Given the description of an element on the screen output the (x, y) to click on. 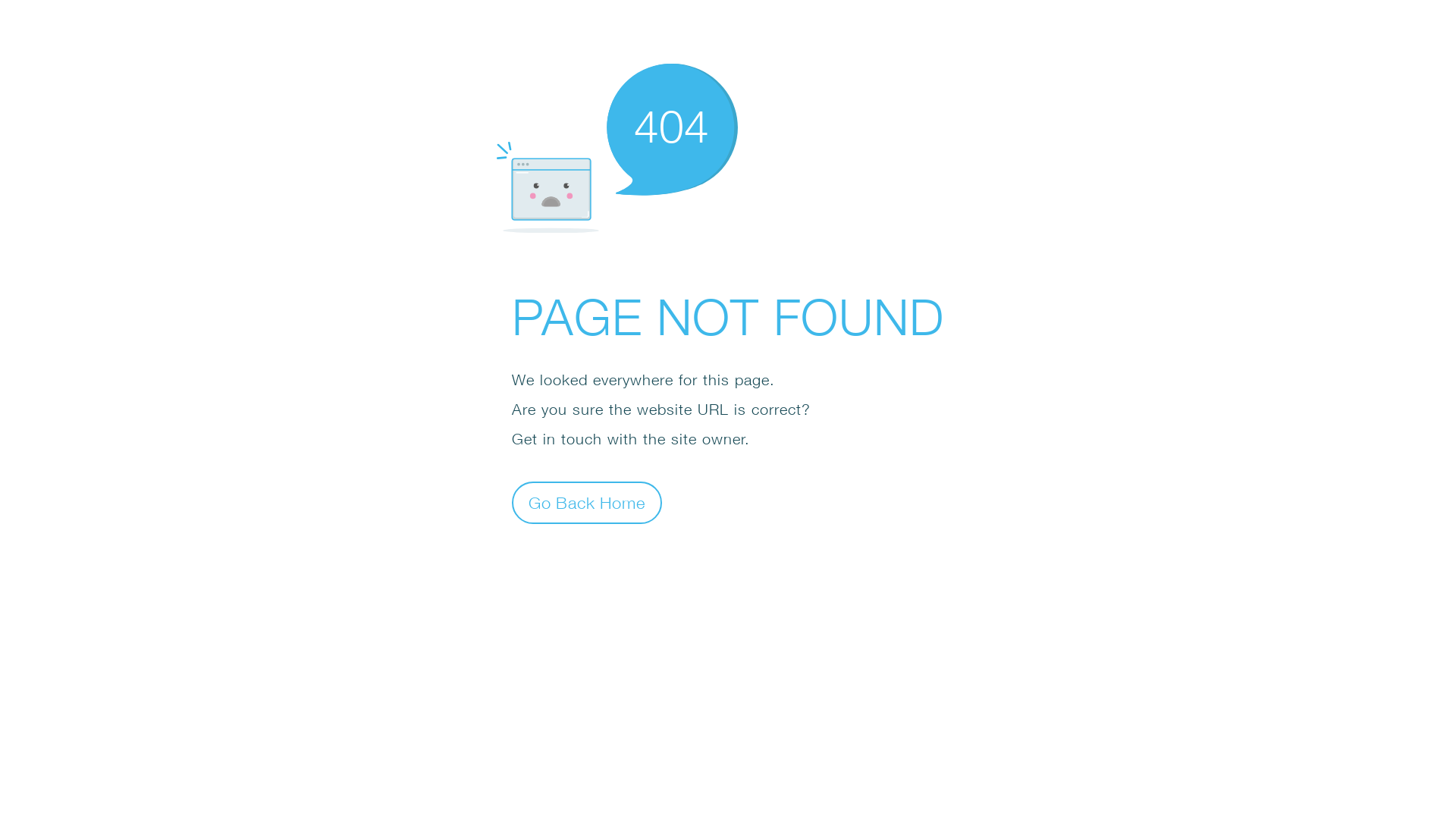
Go Back Home Element type: text (586, 502)
